Given the description of an element on the screen output the (x, y) to click on. 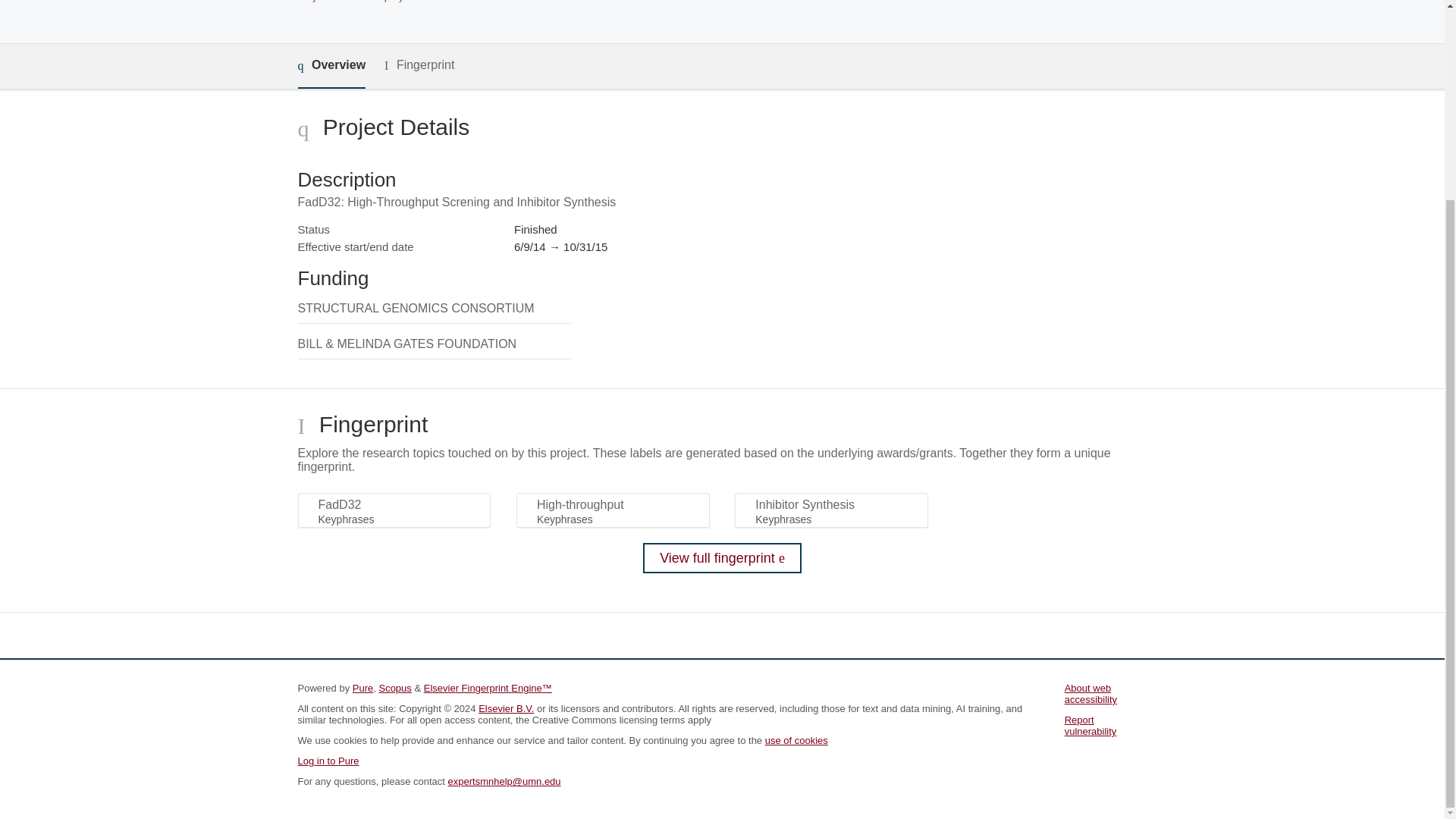
Fingerprint (419, 65)
Scopus (394, 687)
Elsevier B.V. (506, 708)
About web accessibility (1090, 693)
Log in to Pure (327, 760)
Overview (331, 66)
use of cookies (796, 740)
View full fingerprint (722, 557)
Report vulnerability (1090, 725)
Pure (362, 687)
